Given the description of an element on the screen output the (x, y) to click on. 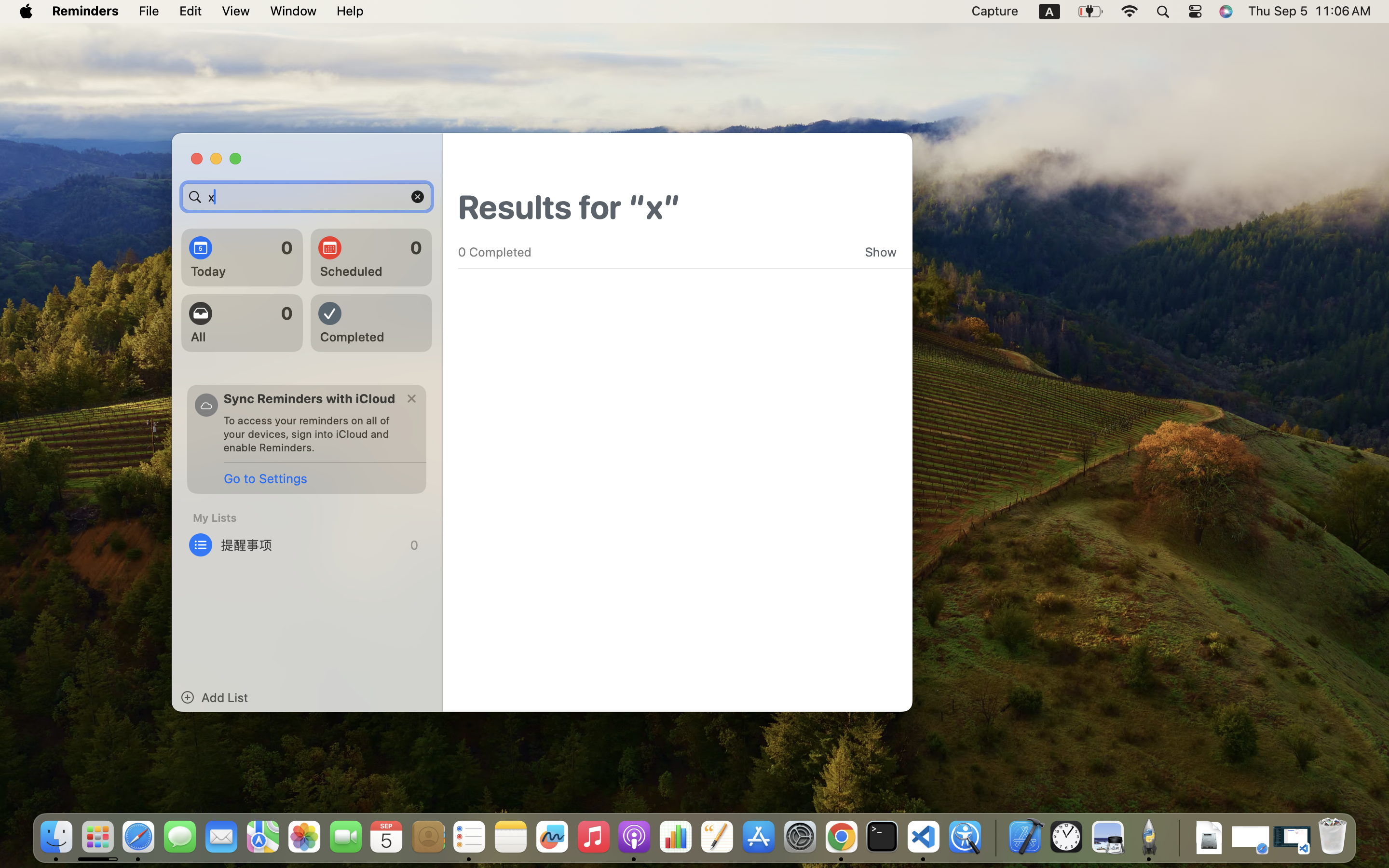
x Element type: AXTextField (306, 196)
